Given the description of an element on the screen output the (x, y) to click on. 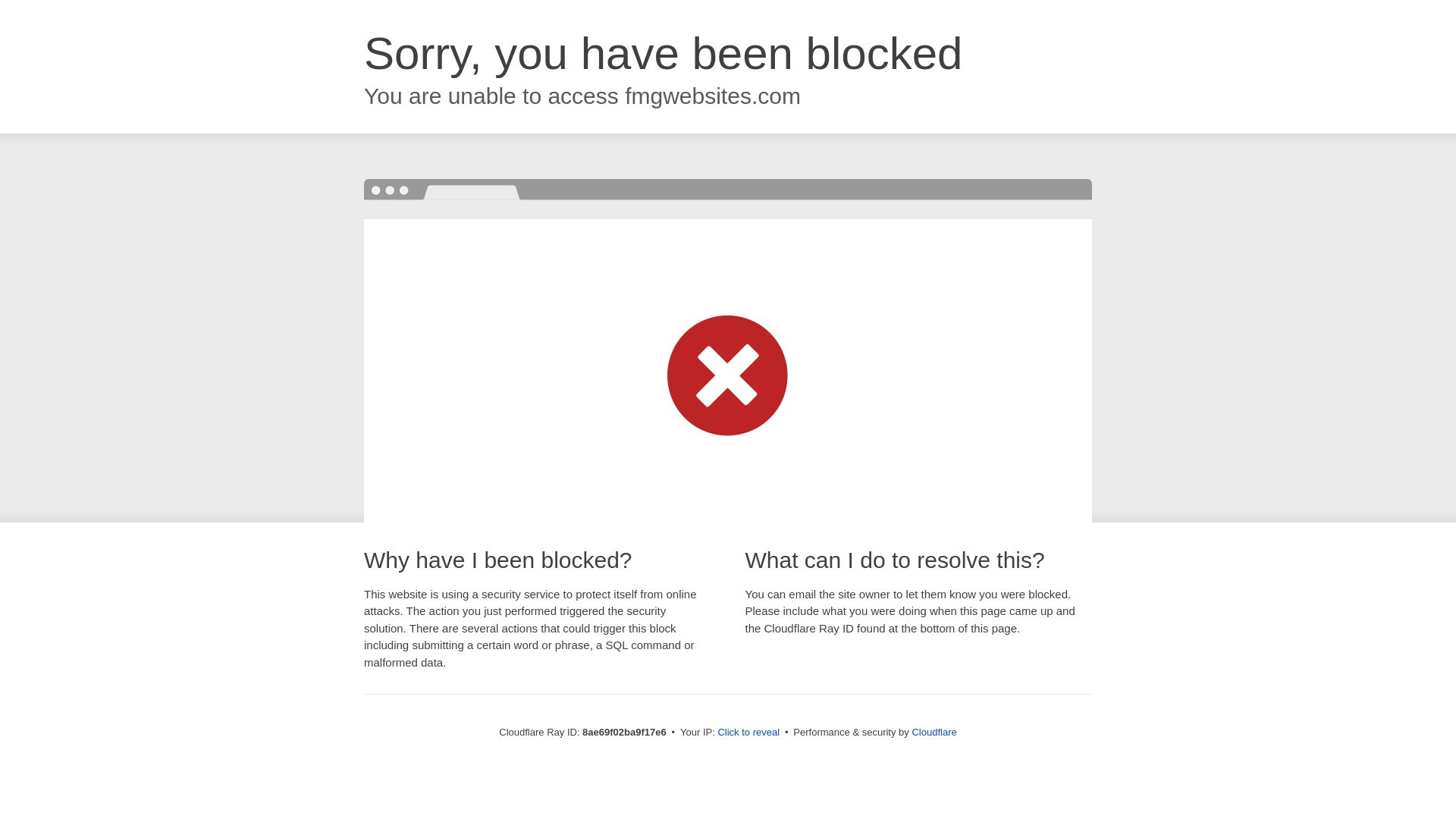
Cloudflare (933, 731)
Click to reveal (747, 732)
